Given the description of an element on the screen output the (x, y) to click on. 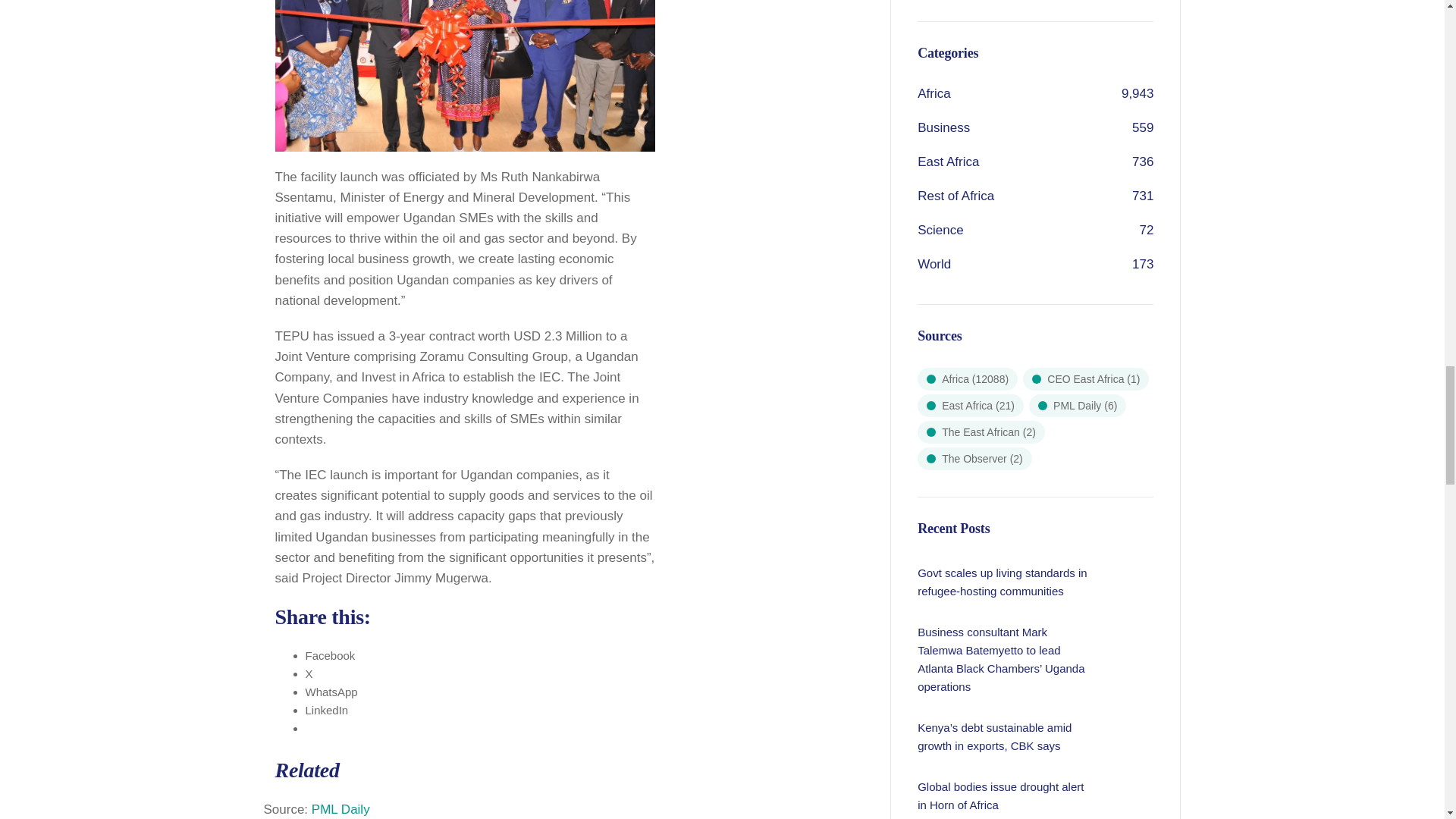
PML Daily (340, 809)
